Given the description of an element on the screen output the (x, y) to click on. 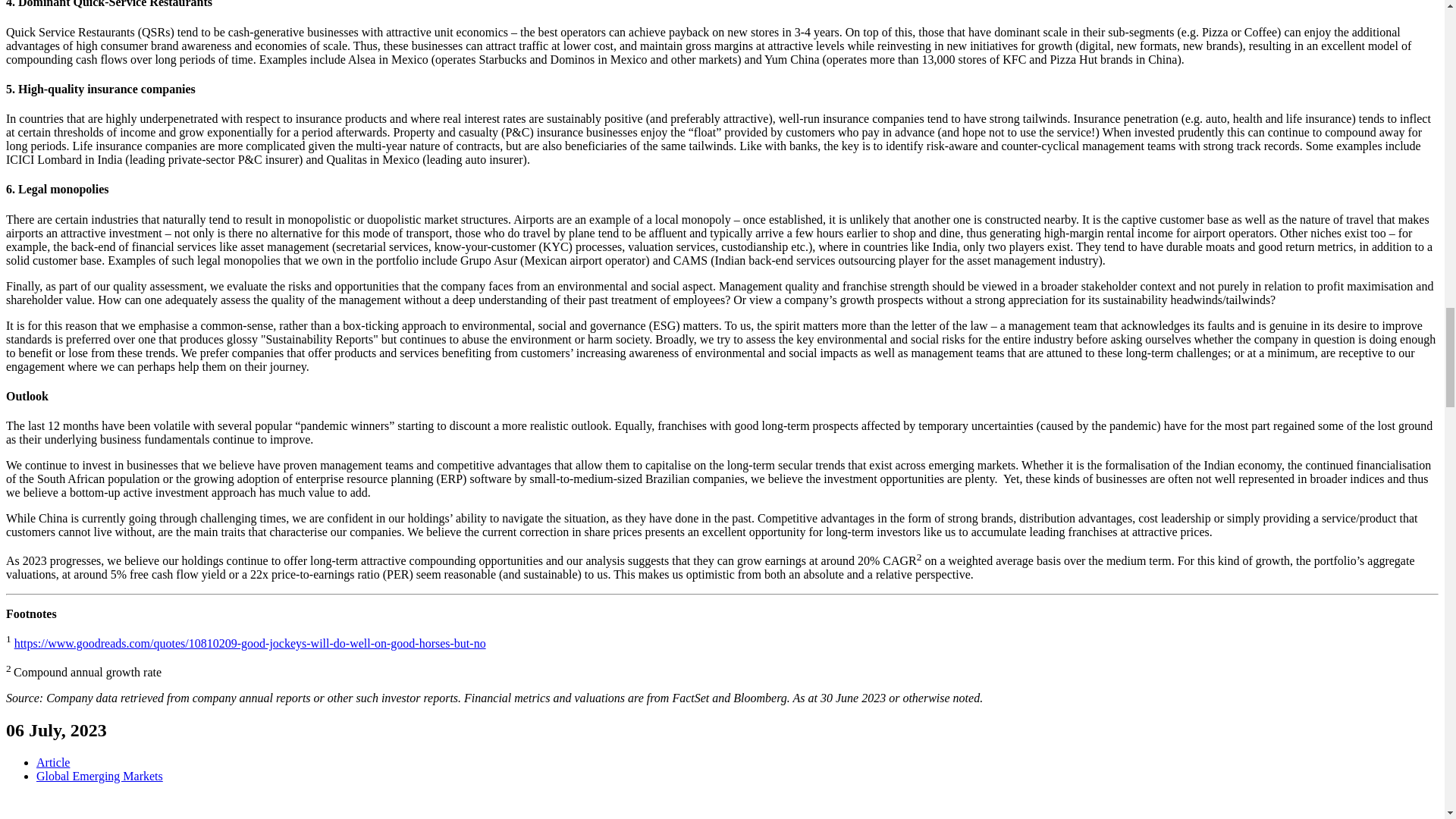
Article (52, 762)
Global Emerging Markets (99, 775)
